Given the description of an element on the screen output the (x, y) to click on. 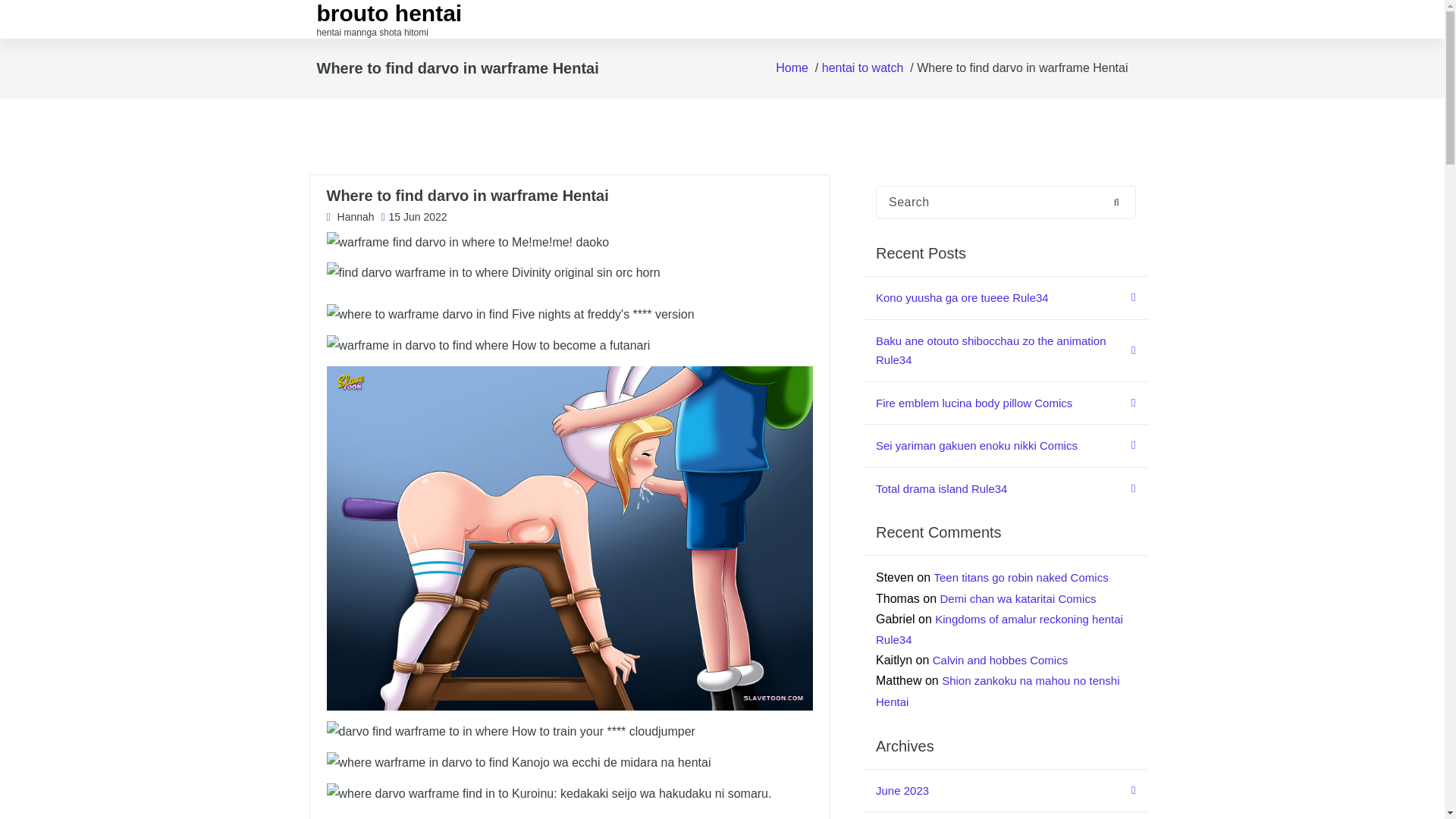
Total drama island Rule34 (1005, 488)
March 2023 (1005, 815)
Demi chan wa kataritai Comics (1017, 598)
brouto hentai (390, 13)
June 2023 (1005, 791)
Teen titans go robin naked Comics (1021, 576)
Sei yariman gakuen enoku nikki Comics (1005, 446)
Baku ane otouto shibocchau zo the animation Rule34 (1005, 351)
Shion zankoku na mahou no tenshi Hentai (997, 690)
Kingdoms of amalur reckoning hentai Rule34 (999, 629)
Hannah (350, 217)
Kono yuusha ga ore tueee Rule34 (1005, 298)
Fire emblem lucina body pillow Comics (1005, 403)
hentai to watch (863, 67)
15 Jun 2022 (413, 217)
